Given the description of an element on the screen output the (x, y) to click on. 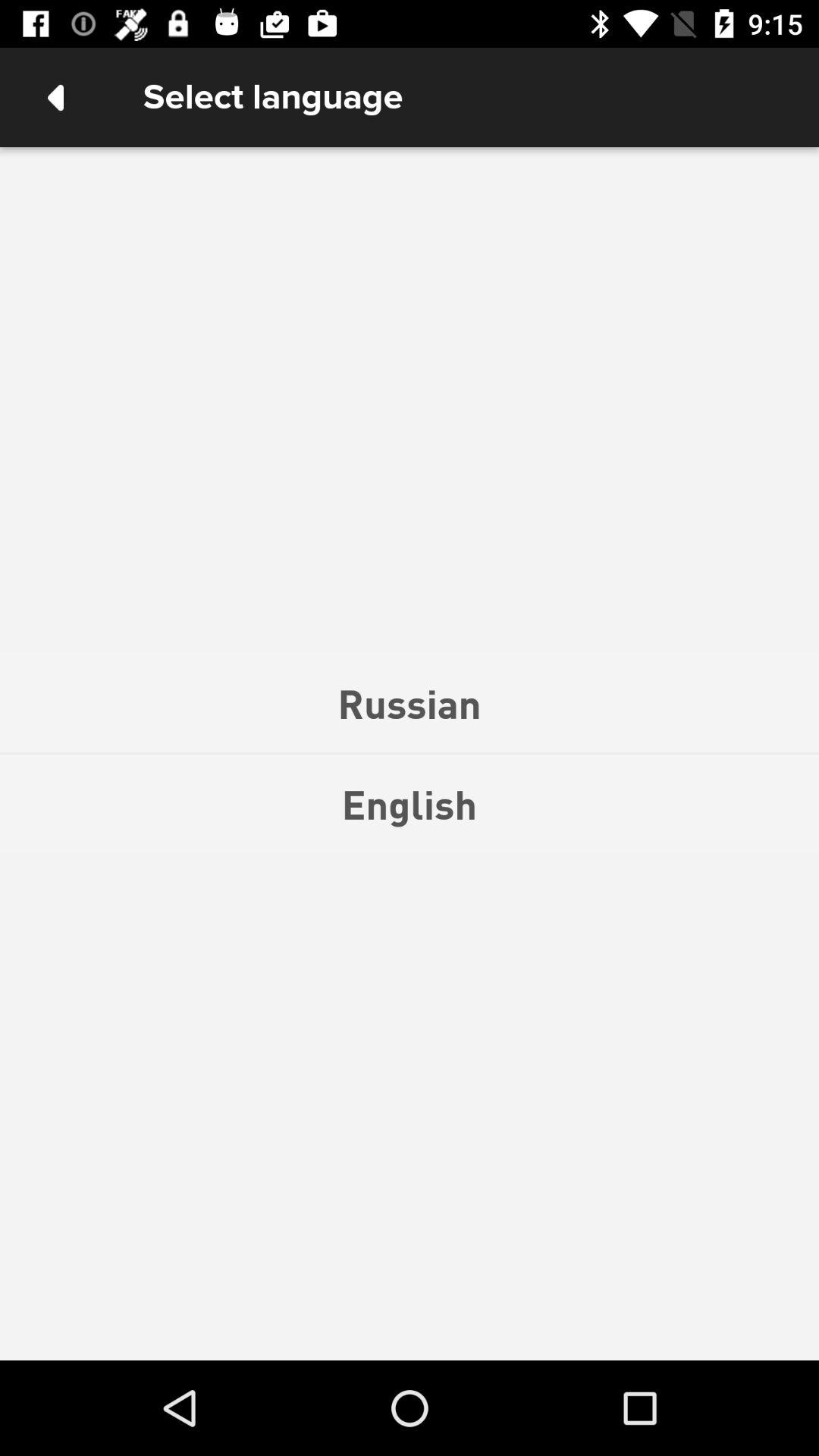
launch item next to the select language item (55, 97)
